Given the description of an element on the screen output the (x, y) to click on. 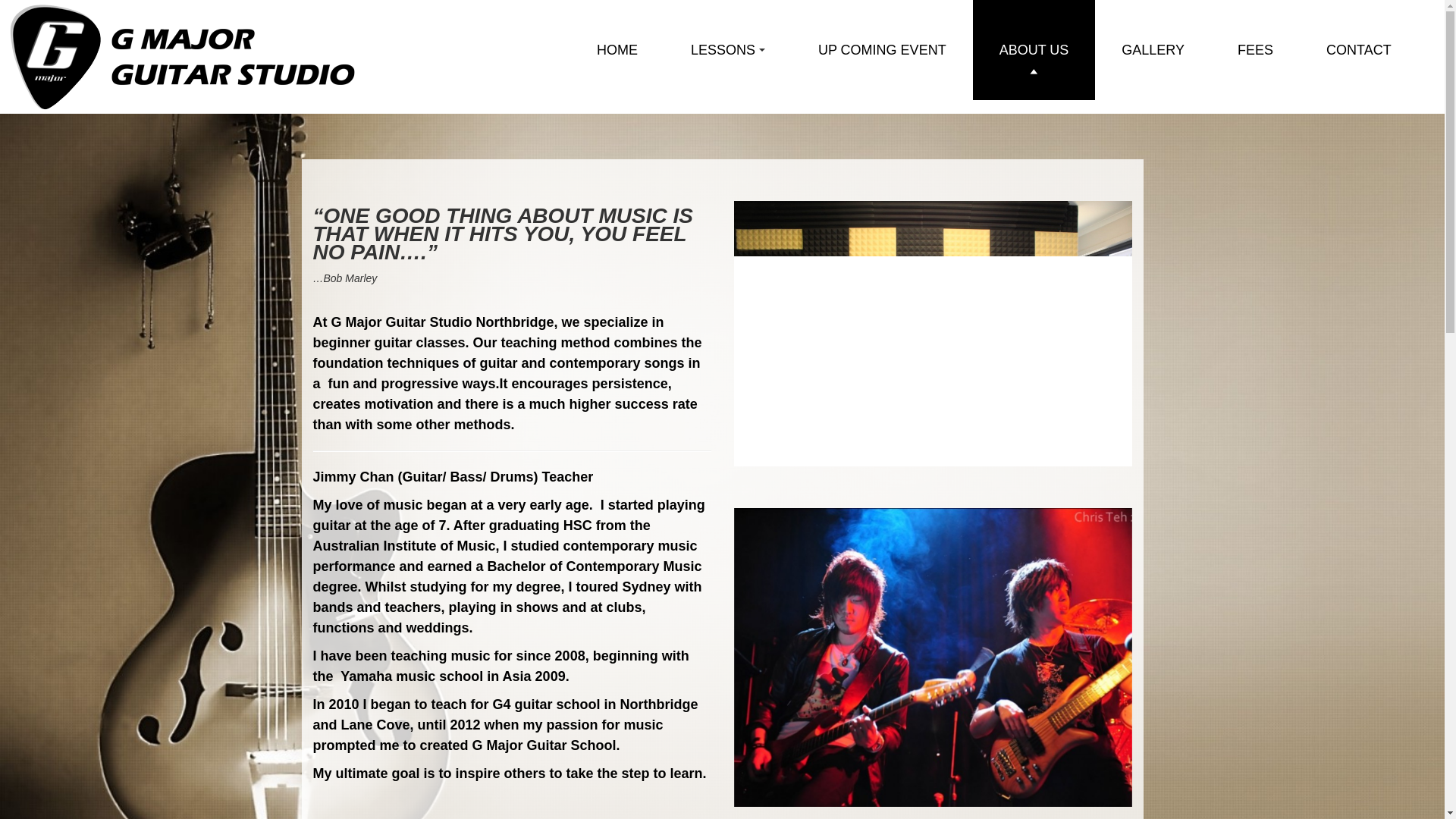
GALLERY Element type: text (1153, 50)
UP COMING EVENT Element type: text (881, 50)
IMG_1722 Element type: hover (933, 657)
FEES Element type: text (1255, 50)
CONTACT Element type: text (1358, 50)
ABOUT US Element type: text (1033, 50)
HOME Element type: text (617, 50)
LESSONS Element type: text (727, 50)
